Given the description of an element on the screen output the (x, y) to click on. 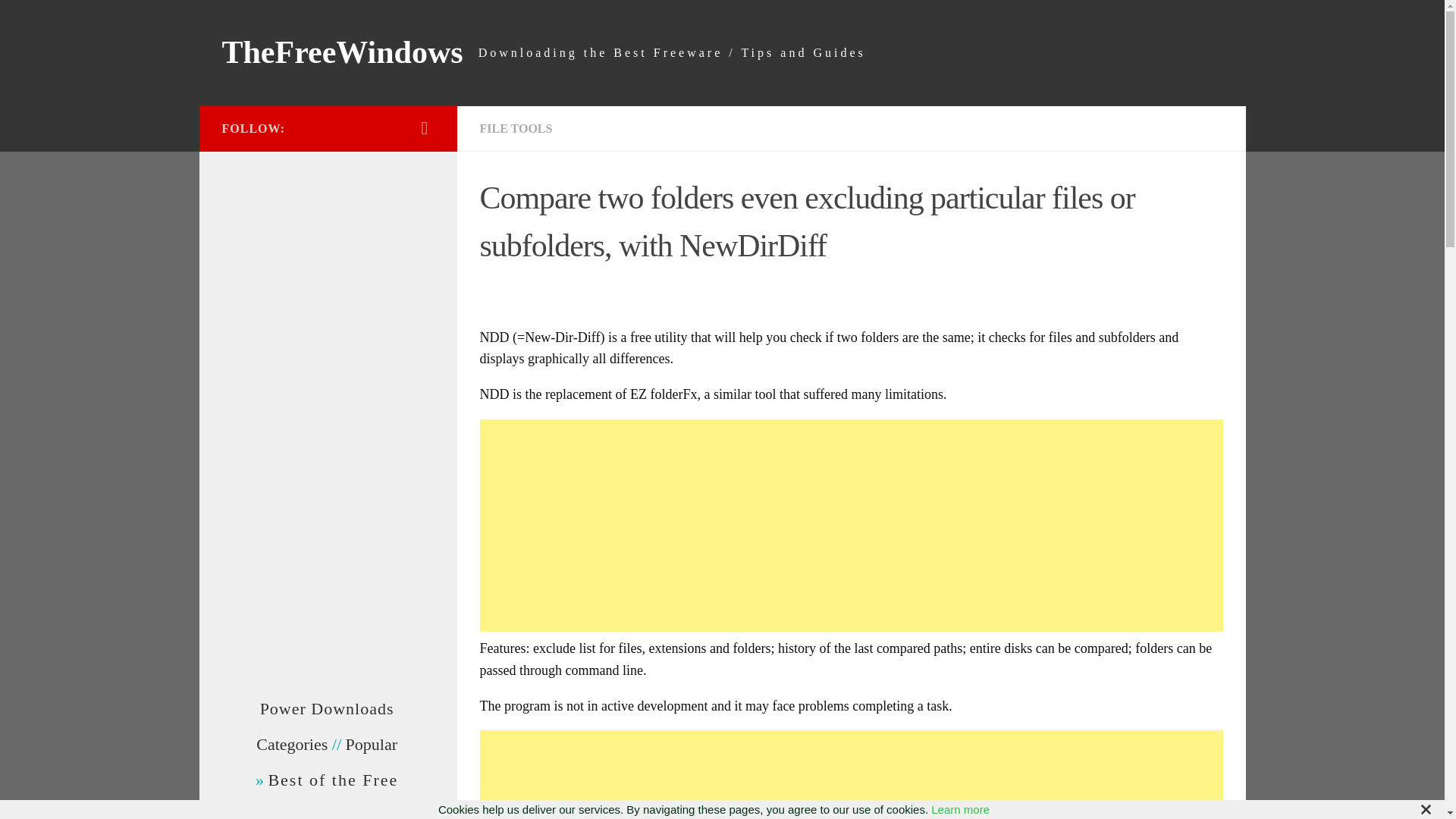
Popular Freeware (371, 743)
Follow us on Twitter (423, 127)
The Best Free Applications (332, 779)
Skip to content (59, 20)
Freeware by TheFreeWindows (327, 708)
TheFreeWindows (342, 53)
Advertisement (851, 774)
Freeware Categories (291, 743)
FILE TOOLS (515, 128)
